Given the description of an element on the screen output the (x, y) to click on. 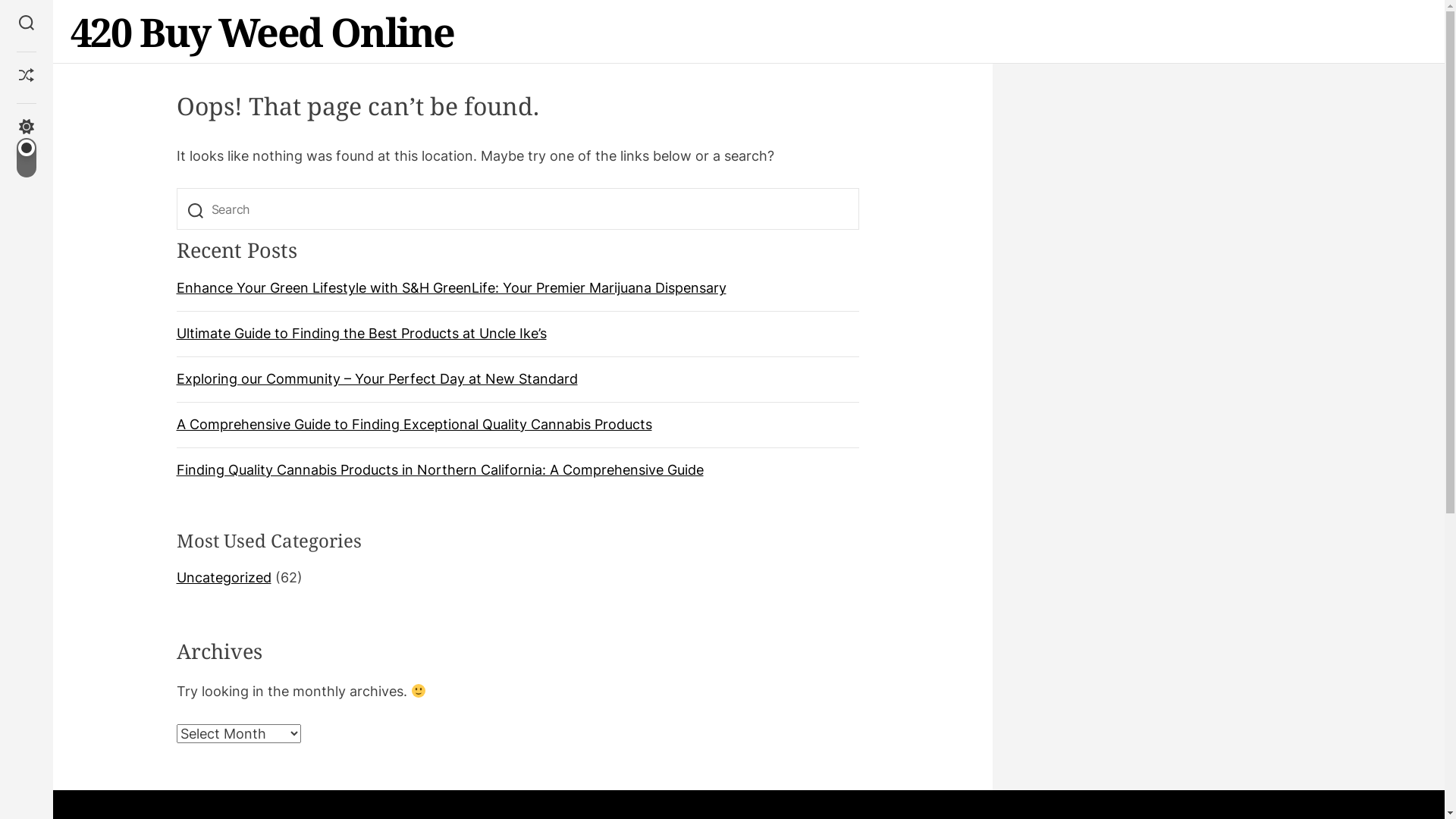
420 Buy Weed Online Element type: text (261, 31)
Shuffle Element type: text (26, 76)
Switch color mode Element type: text (26, 148)
Uncategorized Element type: text (222, 577)
Search Element type: text (26, 24)
